Given the description of an element on the screen output the (x, y) to click on. 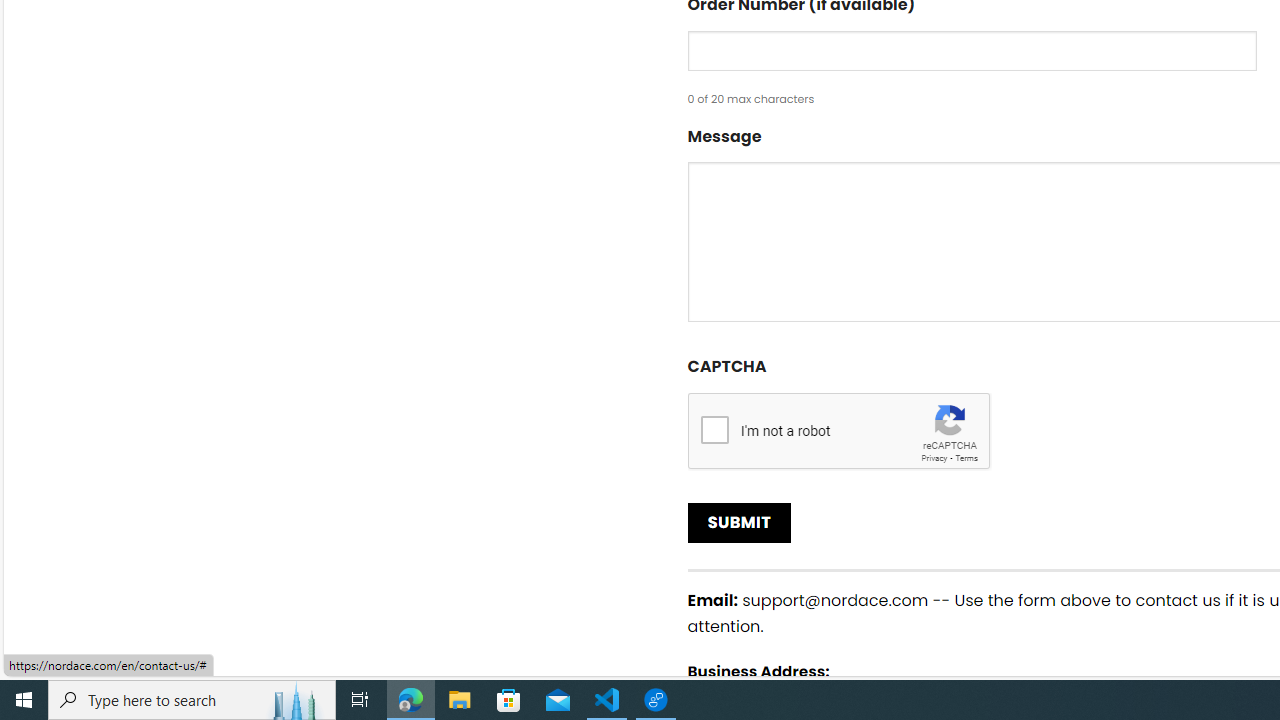
Submit (739, 522)
I'm not a robot (714, 429)
Terms (966, 457)
Order Number (if available) (971, 50)
